Given the description of an element on the screen output the (x, y) to click on. 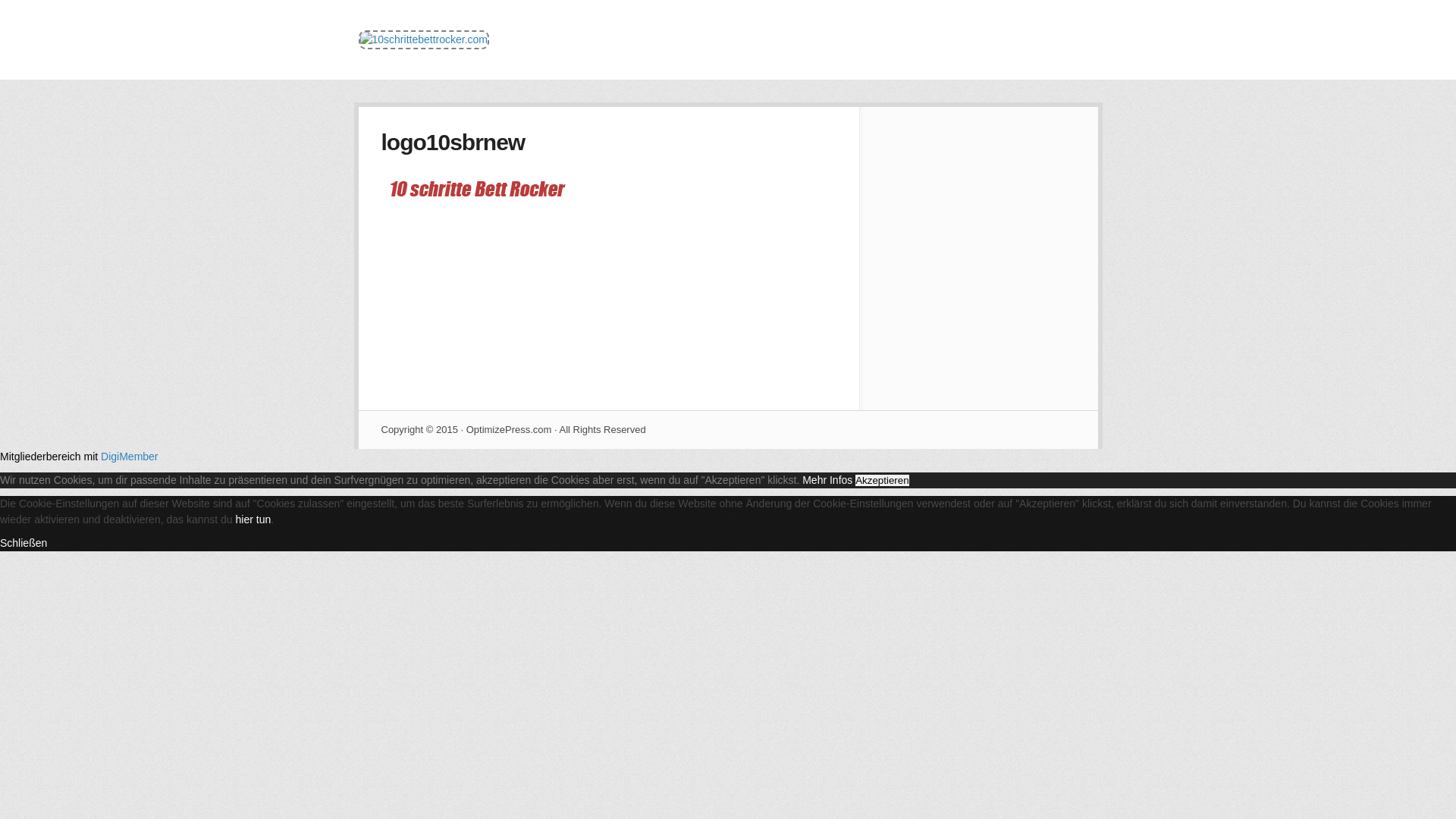
Akzeptieren Element type: text (881, 480)
hier tun Element type: text (253, 519)
10schrittebettrocker.com Element type: hover (423, 39)
DigiMember Element type: text (128, 456)
Mehr Infos Element type: text (827, 479)
